Given the description of an element on the screen output the (x, y) to click on. 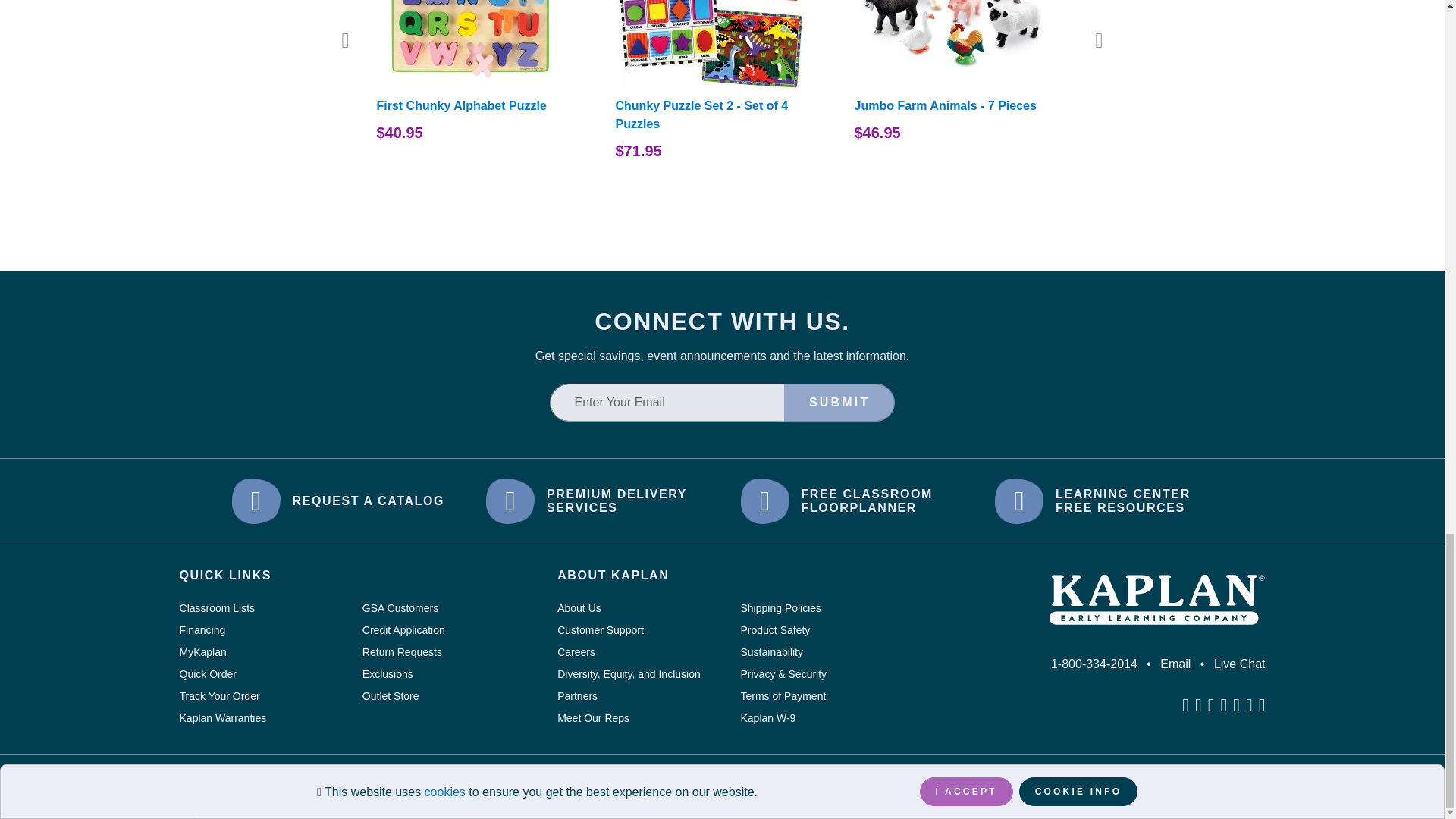
Start a Live Chat with a Kaplan agent (1239, 663)
